Given the description of an element on the screen output the (x, y) to click on. 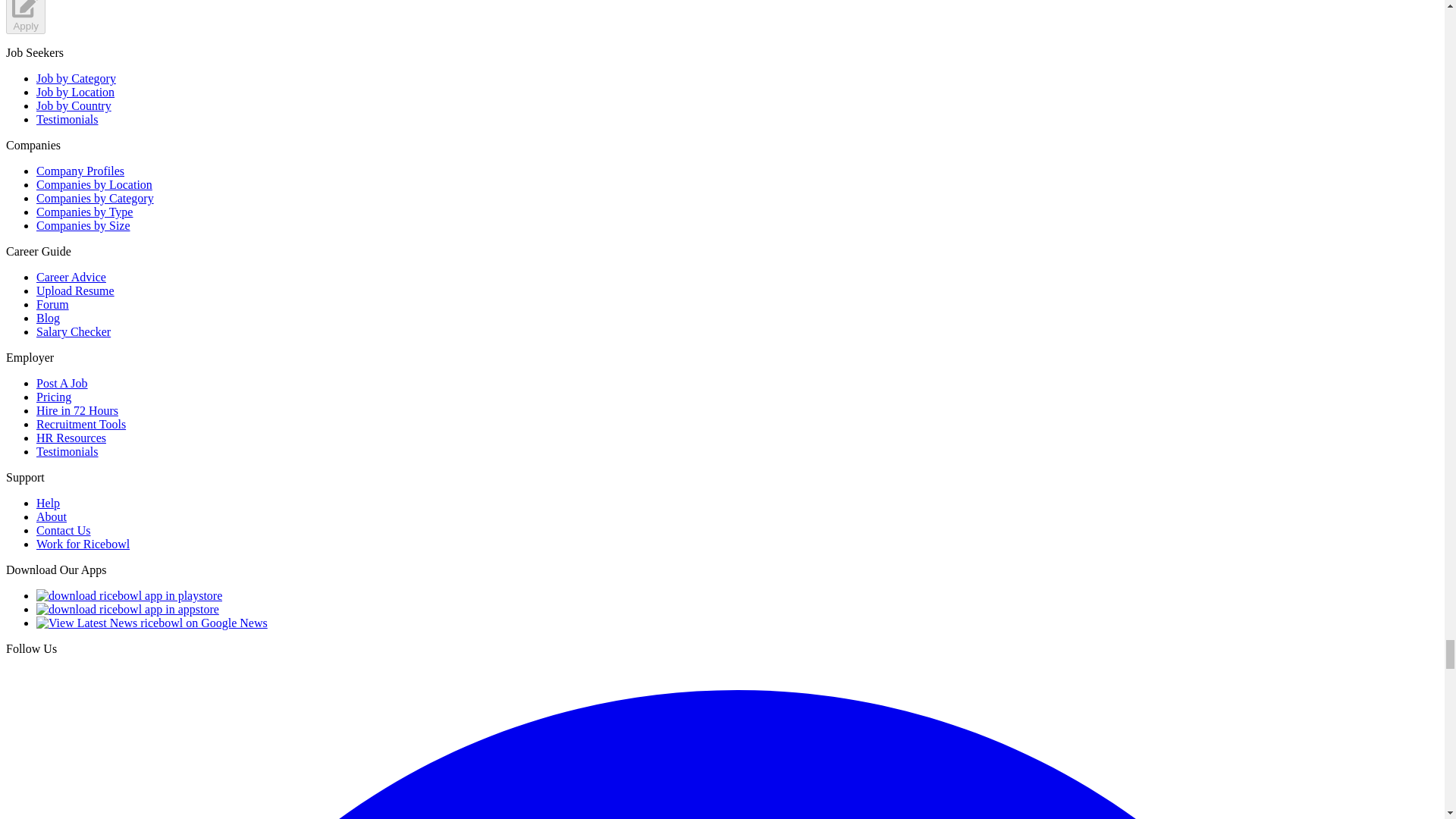
Apply (25, 16)
